Given the description of an element on the screen output the (x, y) to click on. 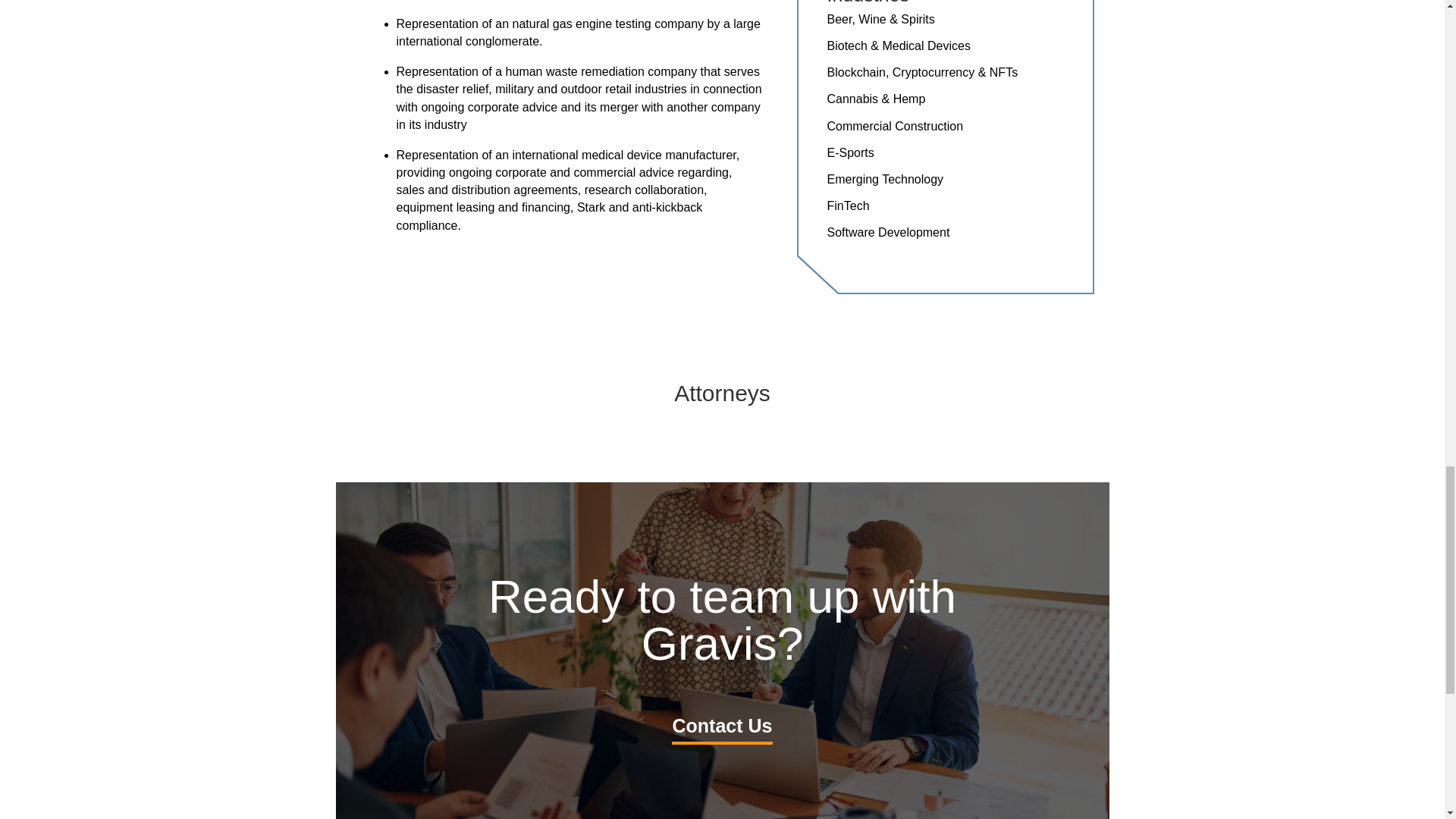
E-Sports (850, 152)
Contact Us (722, 727)
Commercial Construction (894, 125)
FinTech (848, 205)
Emerging Technology (885, 178)
Software Development (888, 232)
